Given the description of an element on the screen output the (x, y) to click on. 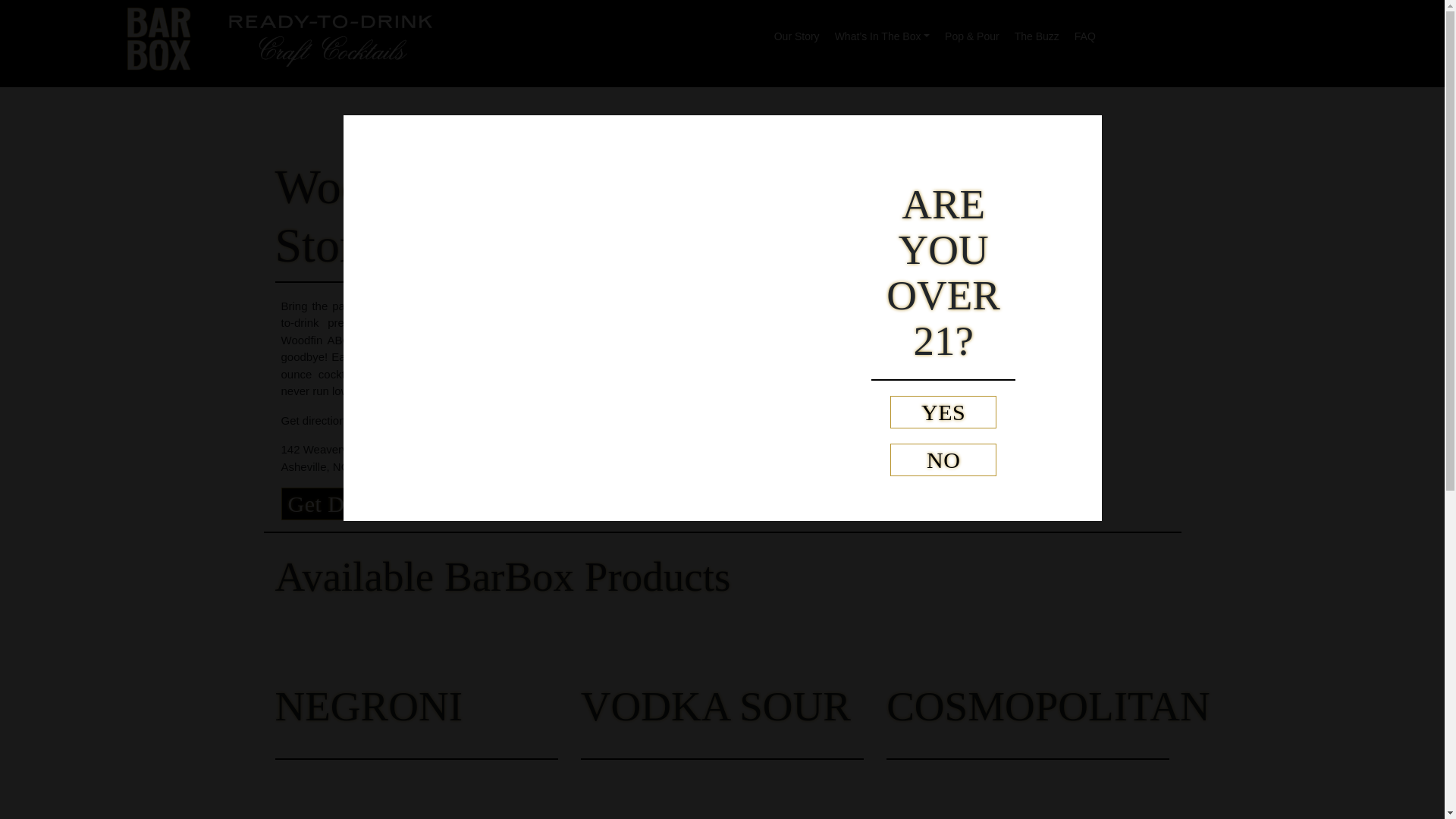
NO (942, 459)
BarBox on Instagram (1169, 32)
YES (942, 411)
COSMOPOLITAN (1047, 706)
FAQ (1085, 32)
BarBox on Facebook (1246, 32)
Our Story (797, 32)
The Buzz (1037, 32)
VODKA SOUR (715, 706)
NEGRONI (368, 706)
